Given the description of an element on the screen output the (x, y) to click on. 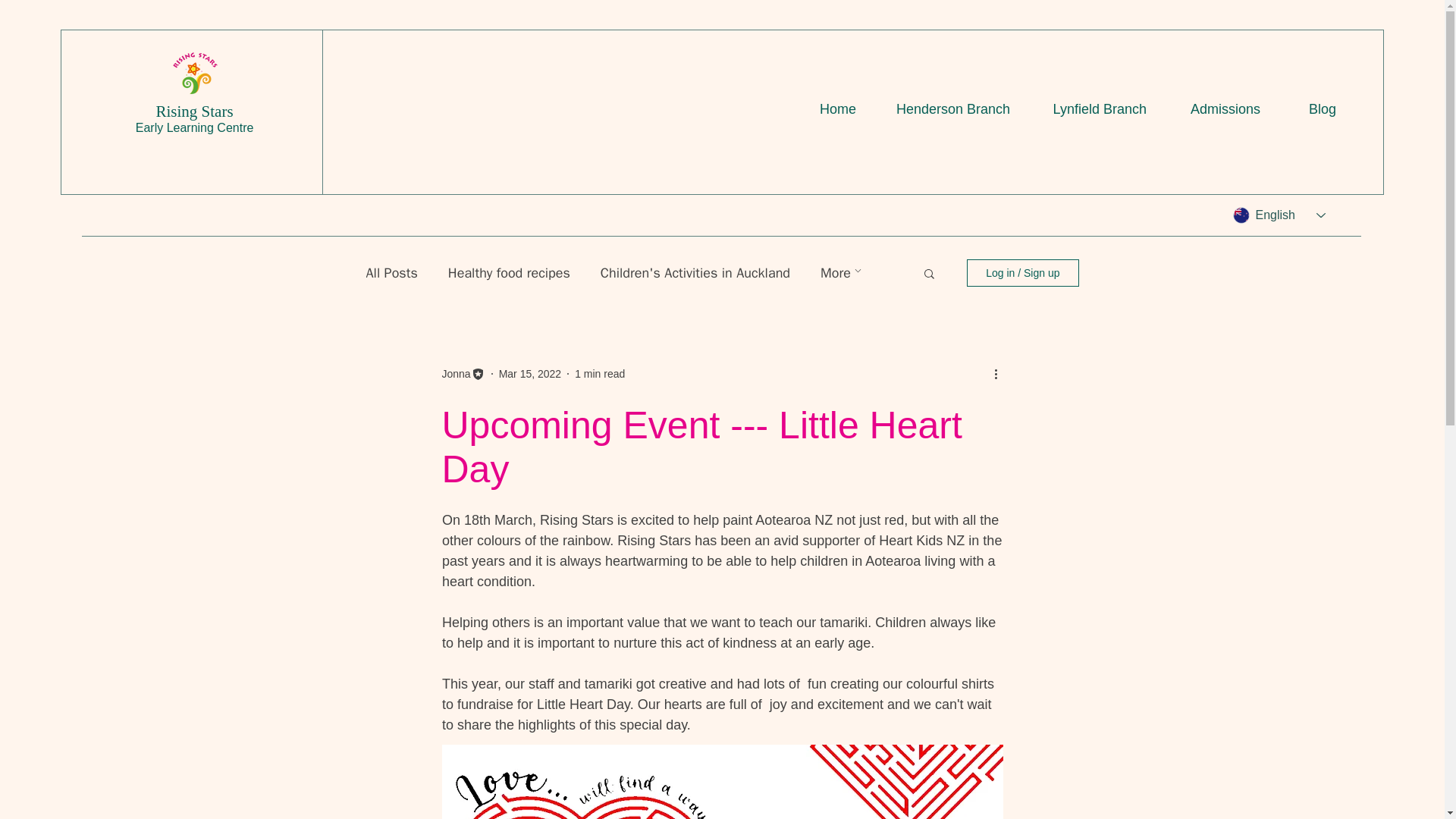
Henderson Branch (944, 108)
All Posts (390, 272)
Untitled.jpg (194, 73)
Home (823, 108)
Blog (1309, 108)
Lynfield Branch (1089, 108)
Mar 15, 2022 (530, 372)
1 min read (599, 372)
Children's Activities in Auckland (694, 272)
Admissions (1214, 108)
